Given the description of an element on the screen output the (x, y) to click on. 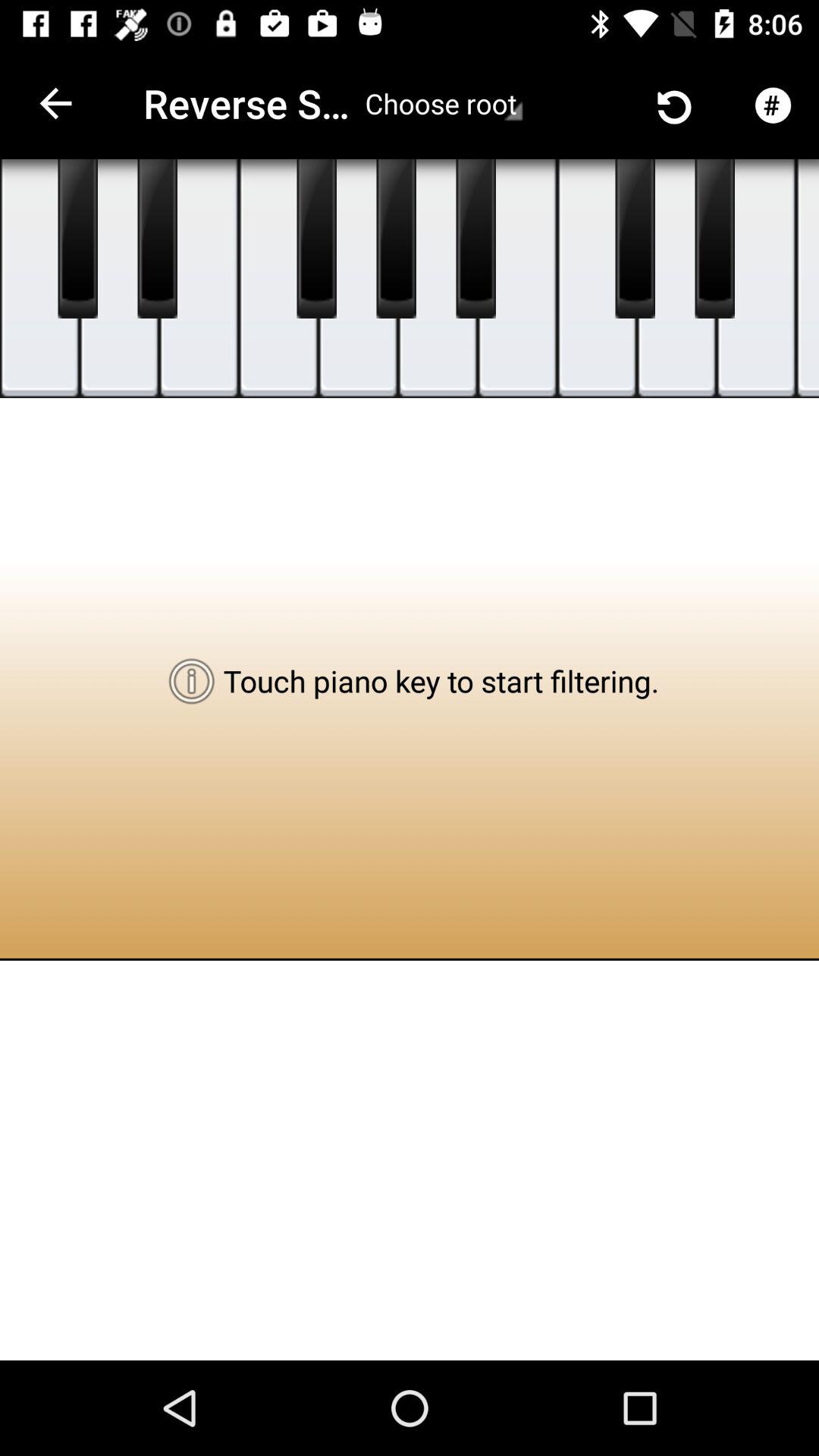
play f note (278, 278)
